Given the description of an element on the screen output the (x, y) to click on. 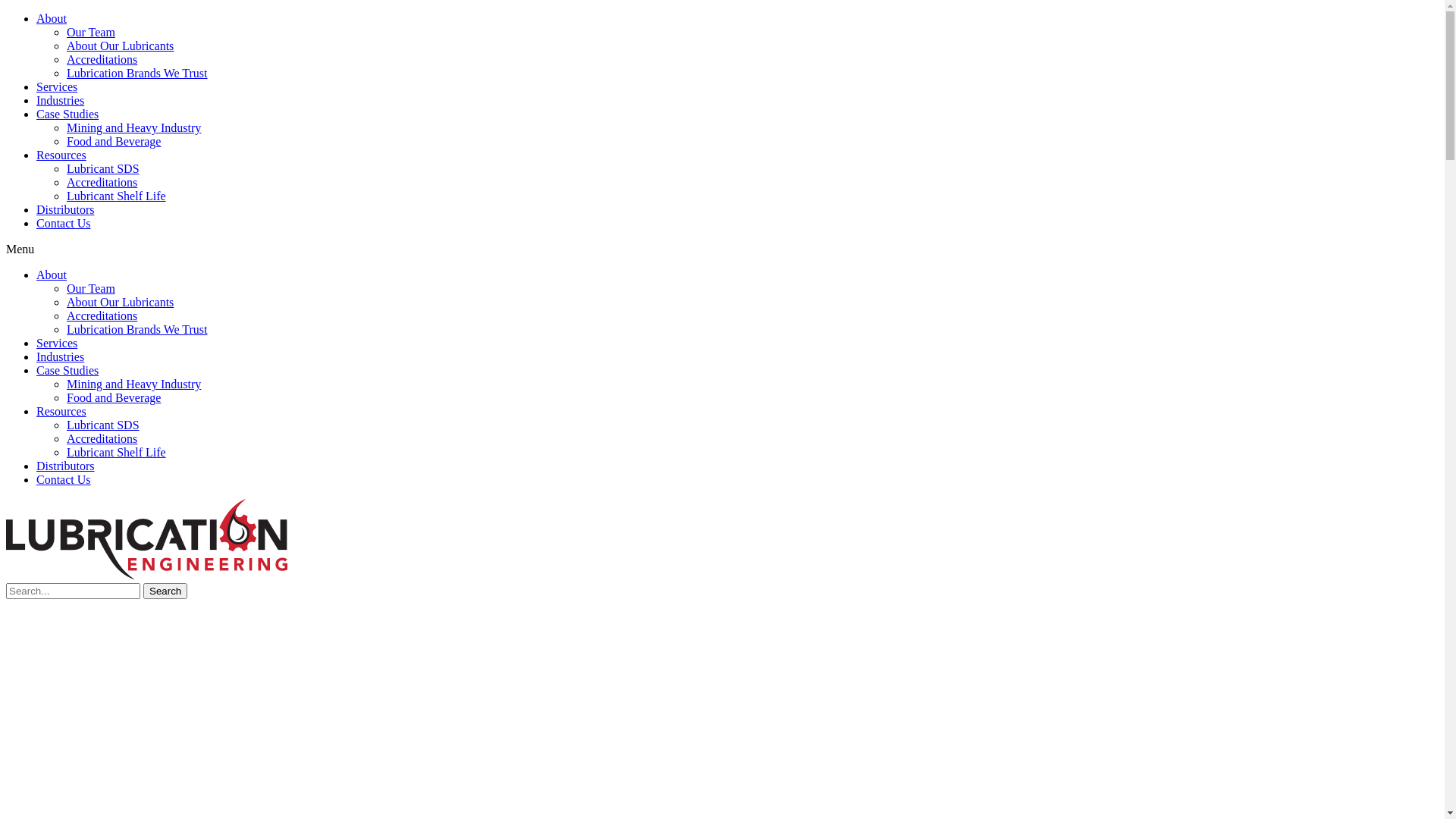
Lubricant SDS Element type: text (102, 424)
Search Element type: hover (73, 591)
About Our Lubricants Element type: text (119, 45)
Lubricant Shelf Life Element type: text (116, 451)
Accreditations Element type: text (101, 315)
Distributors Element type: text (65, 209)
Accreditations Element type: text (101, 438)
Our Team Element type: text (90, 288)
Lubrication Brands We Trust Element type: text (136, 329)
Lubricant Shelf Life Element type: text (116, 195)
Case Studies Element type: text (67, 113)
Lubricant SDS Element type: text (102, 168)
Services Element type: text (56, 342)
Our Team Element type: text (90, 31)
Resources Element type: text (61, 154)
Lubrication Brands We Trust Element type: text (136, 72)
Case Studies Element type: text (67, 370)
Distributors Element type: text (65, 465)
About Element type: text (51, 274)
Industries Element type: text (60, 100)
Services Element type: text (56, 86)
Accreditations Element type: text (101, 181)
Contact Us Element type: text (63, 479)
Mining and Heavy Industry Element type: text (133, 383)
About Element type: text (51, 18)
Food and Beverage Element type: text (113, 397)
Food and Beverage Element type: text (113, 140)
About Our Lubricants Element type: text (119, 301)
Search Element type: text (165, 591)
Mining and Heavy Industry Element type: text (133, 127)
Resources Element type: text (61, 410)
Contact Us Element type: text (63, 222)
Industries Element type: text (60, 356)
Accreditations Element type: text (101, 59)
